Given the description of an element on the screen output the (x, y) to click on. 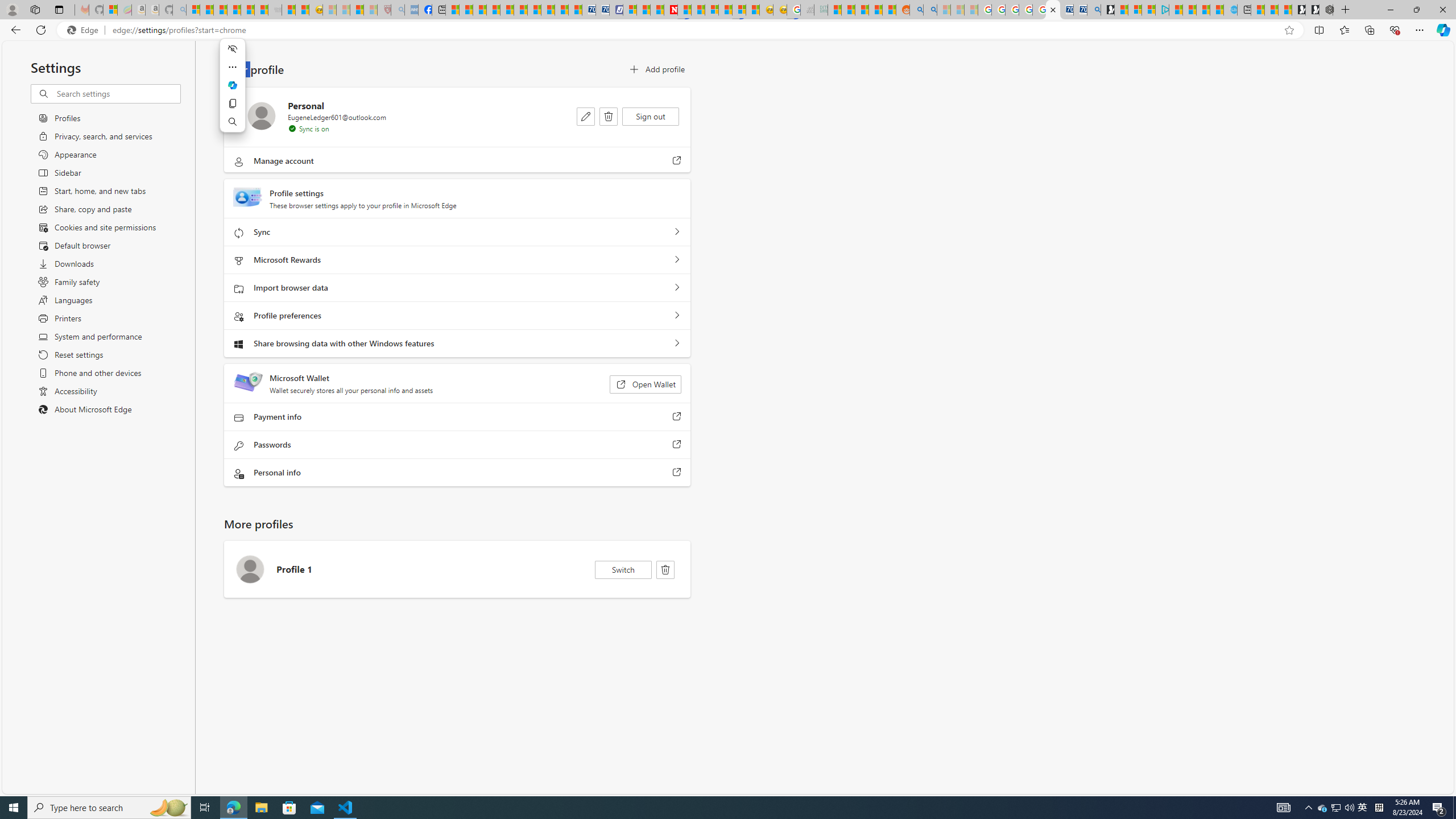
New Report Confirms 2023 Was Record Hot | Watch (247, 9)
Sync (676, 231)
Utah sues federal government - Search (930, 9)
Open Wallet (644, 384)
Cheap Hotels - Save70.com (602, 9)
Cheap Car Rentals - Save70.com (1080, 9)
Search settings (117, 93)
